Given the description of an element on the screen output the (x, y) to click on. 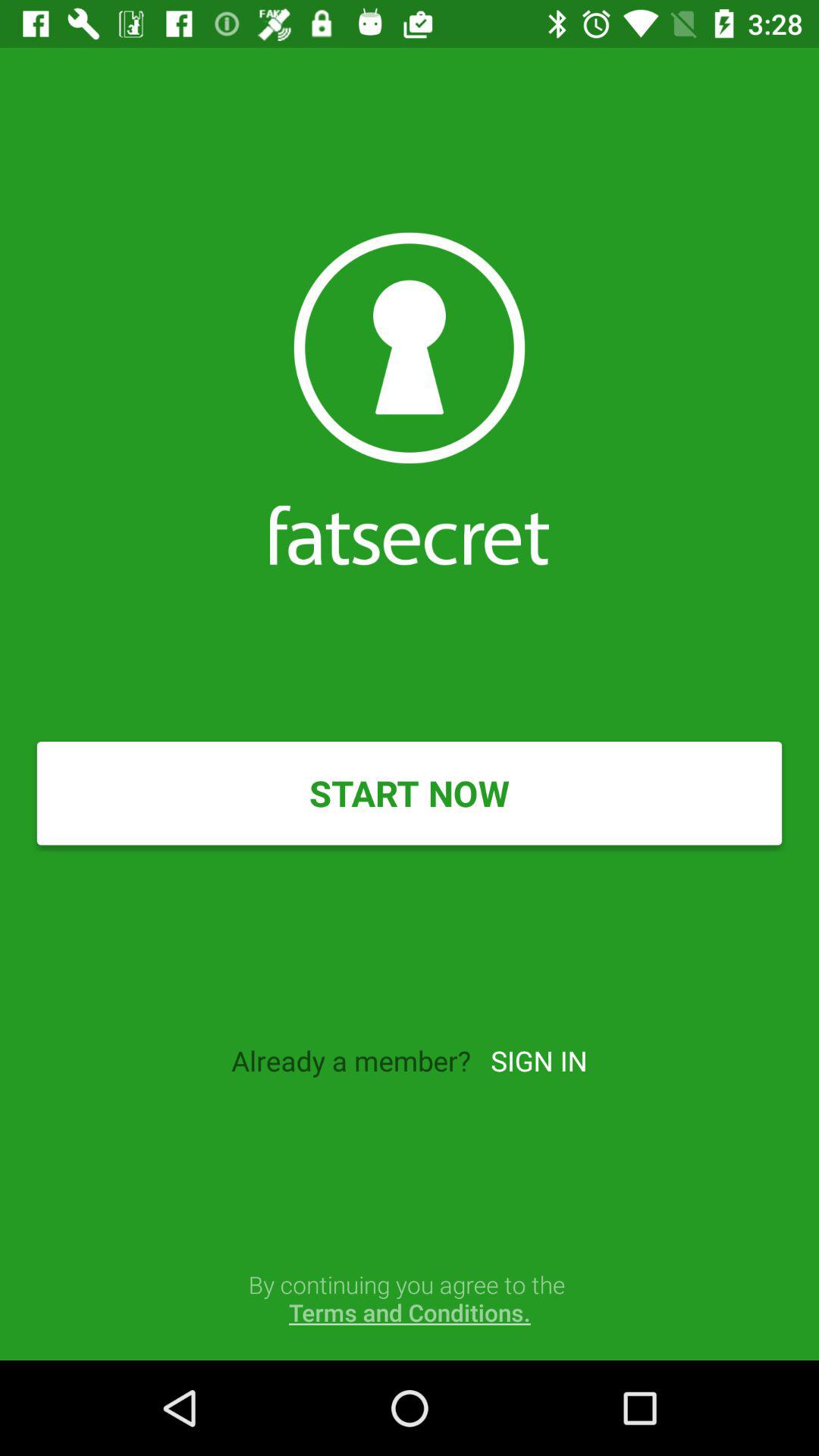
turn off icon above by continuing you item (538, 1060)
